Given the description of an element on the screen output the (x, y) to click on. 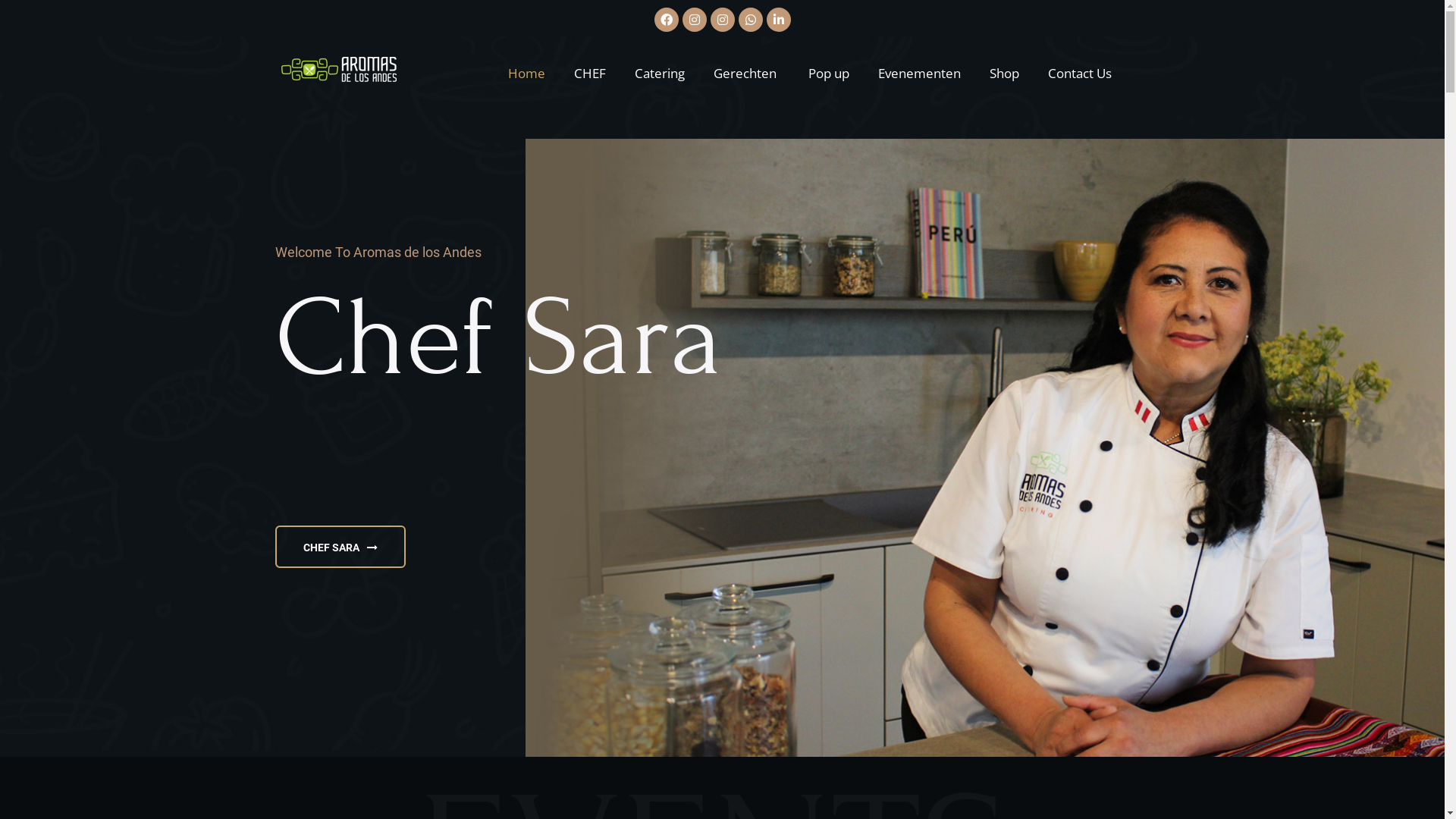
Catering Element type: text (659, 73)
Contact Us Element type: text (1073, 73)
Shop Element type: text (1004, 73)
Evenementen Element type: text (919, 73)
Gerechten  Element type: text (746, 73)
CHEF SARA Element type: text (339, 546)
CHEF Element type: text (589, 73)
Pop up Element type: text (828, 73)
Home Element type: text (526, 73)
